Given the description of an element on the screen output the (x, y) to click on. 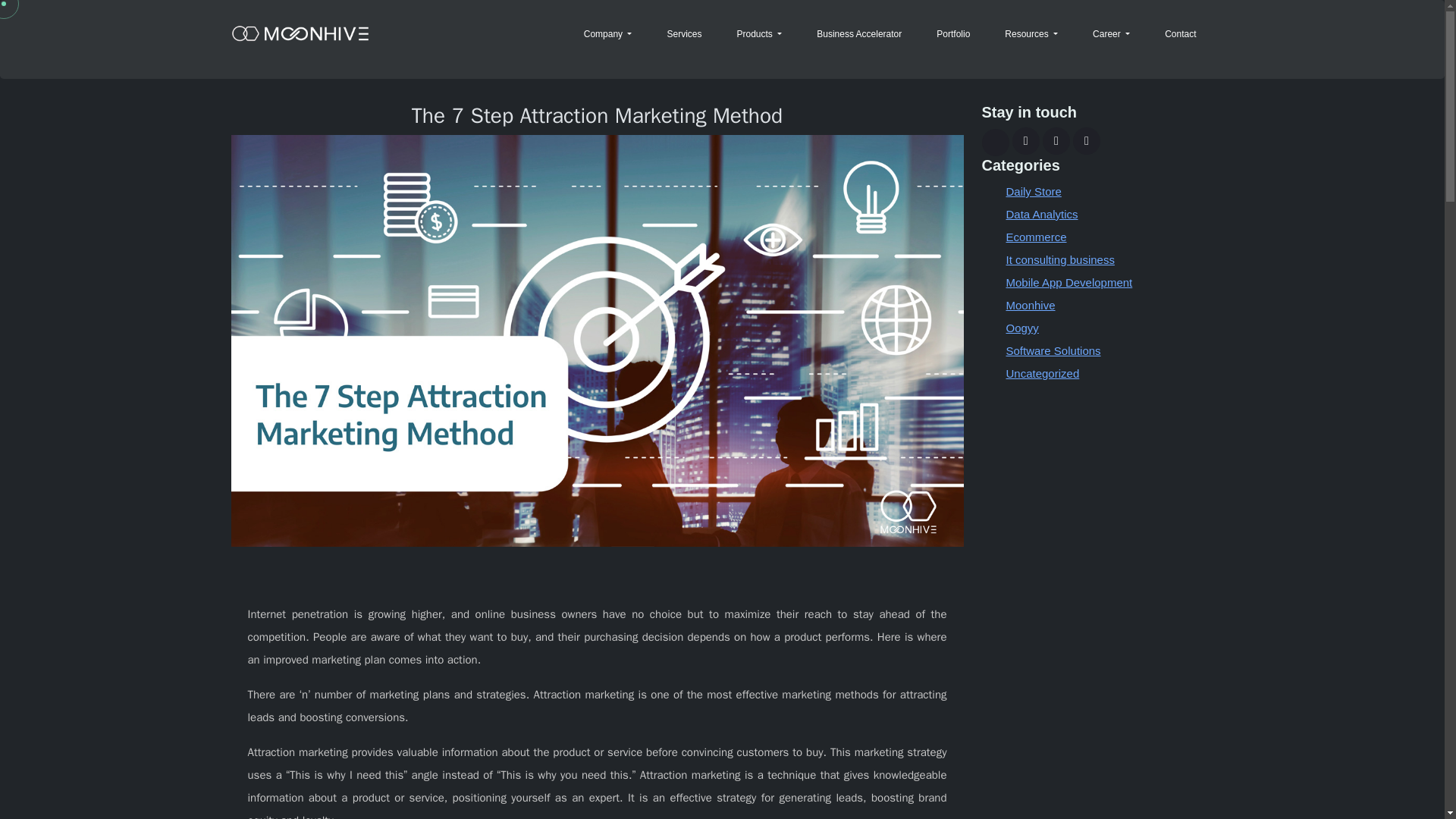
Facebook (1025, 140)
Resources (1031, 33)
Business Accelerator (858, 33)
Portfolio (952, 33)
Career (1110, 33)
Company (608, 33)
Contact (1180, 33)
Products (758, 33)
Services (684, 33)
